Given the description of an element on the screen output the (x, y) to click on. 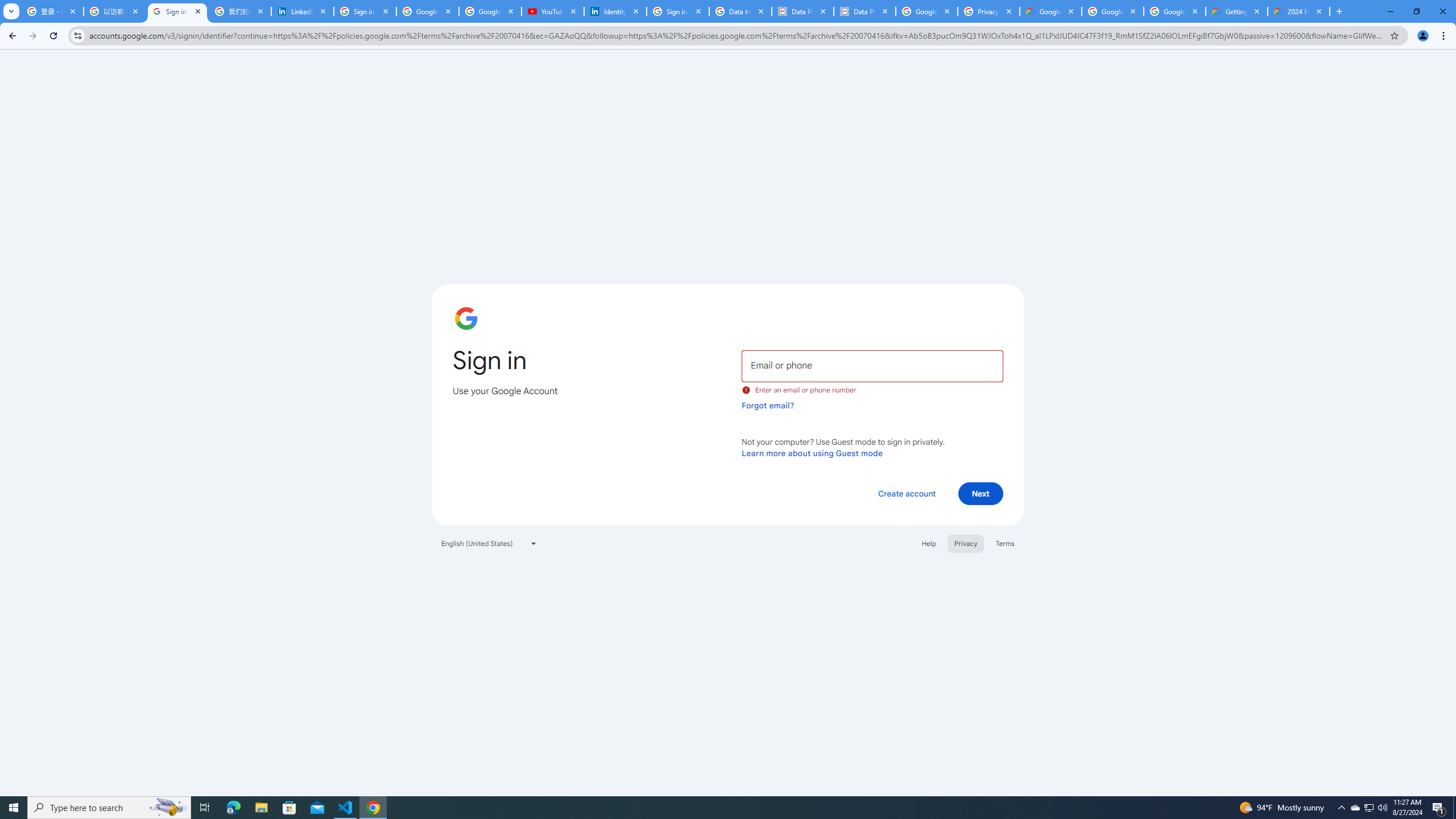
Data Privacy Framework (864, 11)
Create account (905, 493)
YouTube (552, 11)
Forgot email? (767, 404)
